Given the description of an element on the screen output the (x, y) to click on. 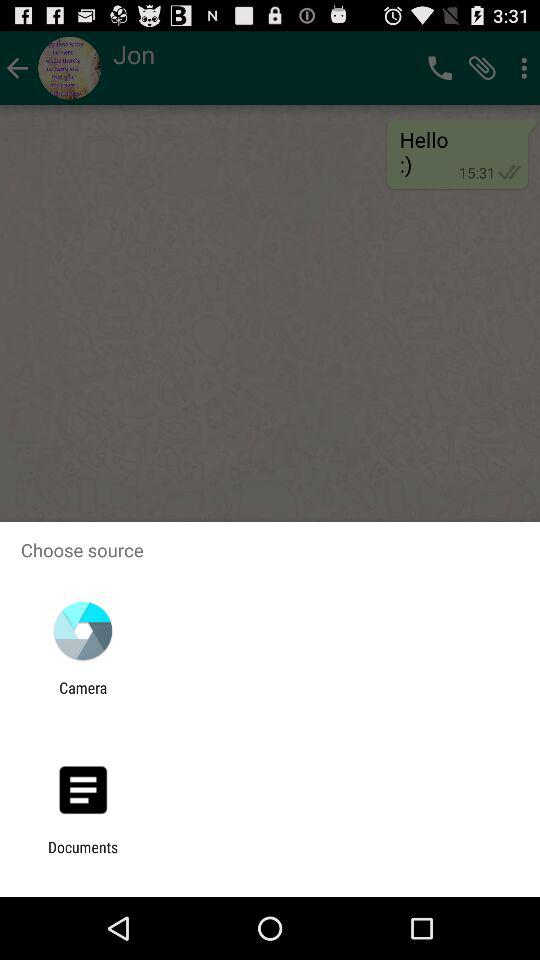
press the camera app (83, 696)
